Given the description of an element on the screen output the (x, y) to click on. 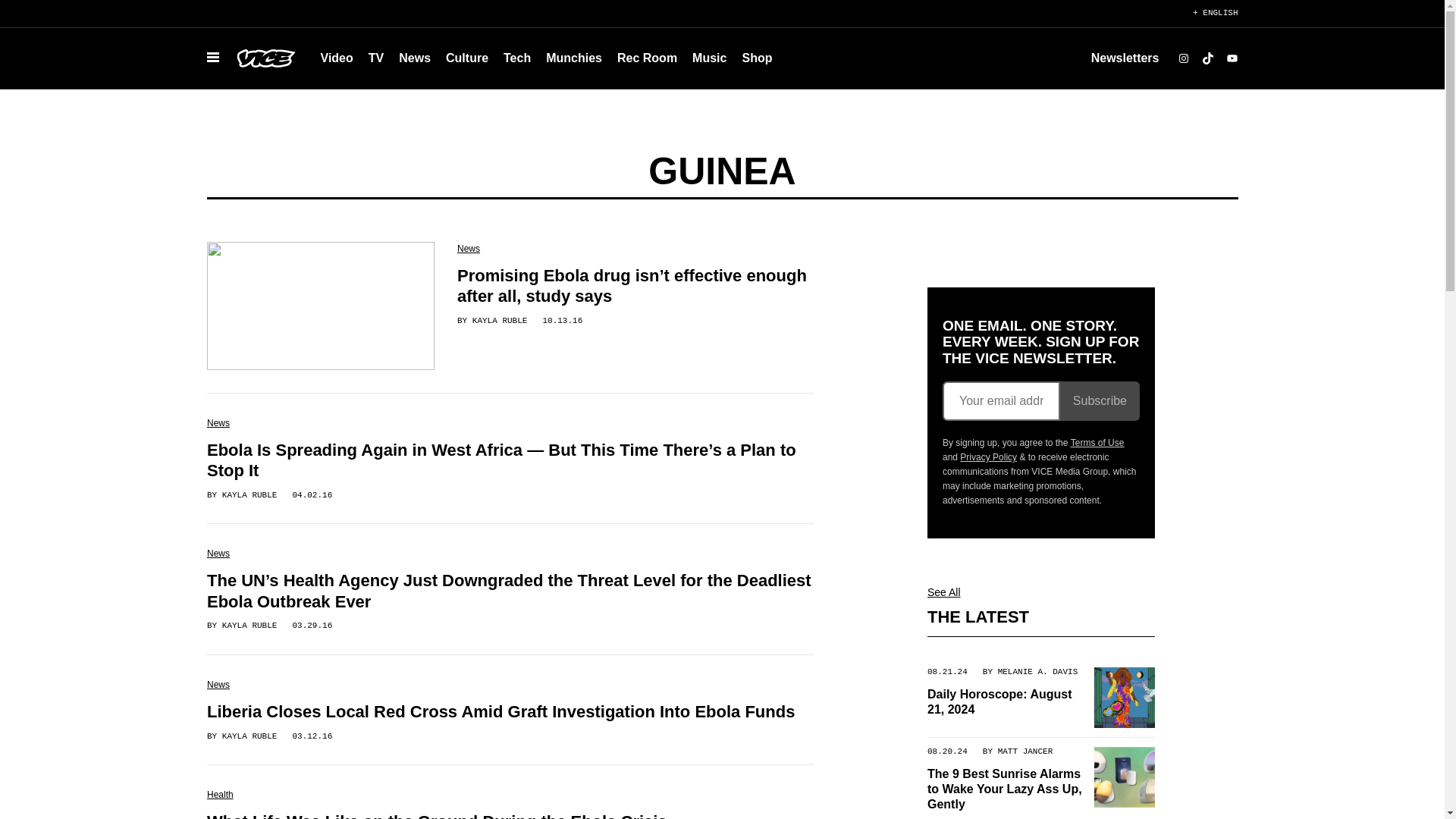
Rec Room (647, 58)
News (414, 58)
Music (708, 58)
Culture (467, 58)
Newsletter Signup Form (1040, 400)
Posts by Matt Jancer (1024, 750)
Newsletters (1124, 57)
Tech (517, 58)
Video (336, 58)
YouTube (1231, 58)
